Given the description of an element on the screen output the (x, y) to click on. 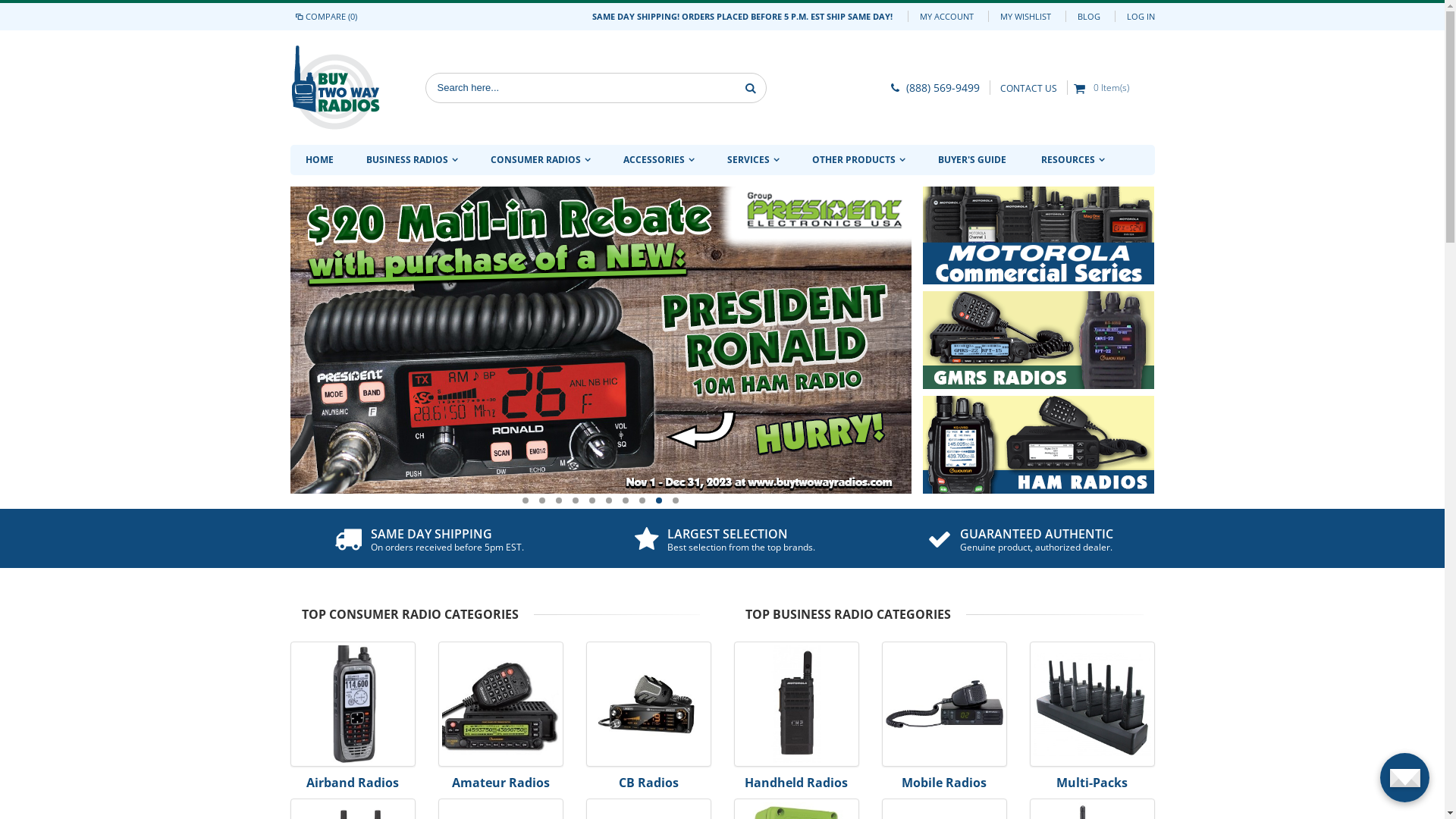
Magento Commerce Element type: hover (335, 87)
Search Element type: hover (750, 86)
Business Handheld Radios Element type: hover (796, 649)
ACCESSORIES Element type: text (657, 159)
BLOG Element type: text (1087, 15)
LOG IN Element type: text (1140, 15)
Mobile Radios Element type: hover (943, 649)
Handheld Radios Element type: text (795, 782)
Repeaters Element type: hover (943, 806)
VHF Marine Radios Element type: hover (500, 806)
BUYER'S GUIDE Element type: text (971, 159)
Intercoms and Callboxes Element type: hover (796, 806)
SERVICES Element type: text (751, 159)
Airband Radios Element type: text (352, 782)
RESOURCES Element type: text (1071, 159)
Amateur Radios Element type: text (500, 782)
Weather Radios Element type: hover (647, 806)
Mobile Radios Element type: text (943, 782)
FRS/GMRS Radios Element type: hover (351, 806)
CB Radios Element type: text (648, 782)
COMPARE (0) Element type: text (325, 15)
CB Radios Element type: hover (647, 649)
0Item(s) Element type: text (1102, 87)
Multi-Packs and Bundles Element type: hover (1091, 649)
Amateur Radios Element type: hover (500, 649)
Multi-Packs Element type: text (1091, 782)
OTHER PRODUCTS Element type: text (856, 159)
CONSUMER RADIOS Element type: text (538, 159)
CONTACT US Element type: text (1028, 87)
HOME Element type: text (318, 159)
MY WISHLIST Element type: text (1024, 15)
MY ACCOUNT Element type: text (945, 15)
Airband Radios Element type: hover (351, 649)
Wifi, IP and LTE Radios Element type: hover (1091, 806)
BUSINESS RADIOS Element type: text (410, 159)
